Given the description of an element on the screen output the (x, y) to click on. 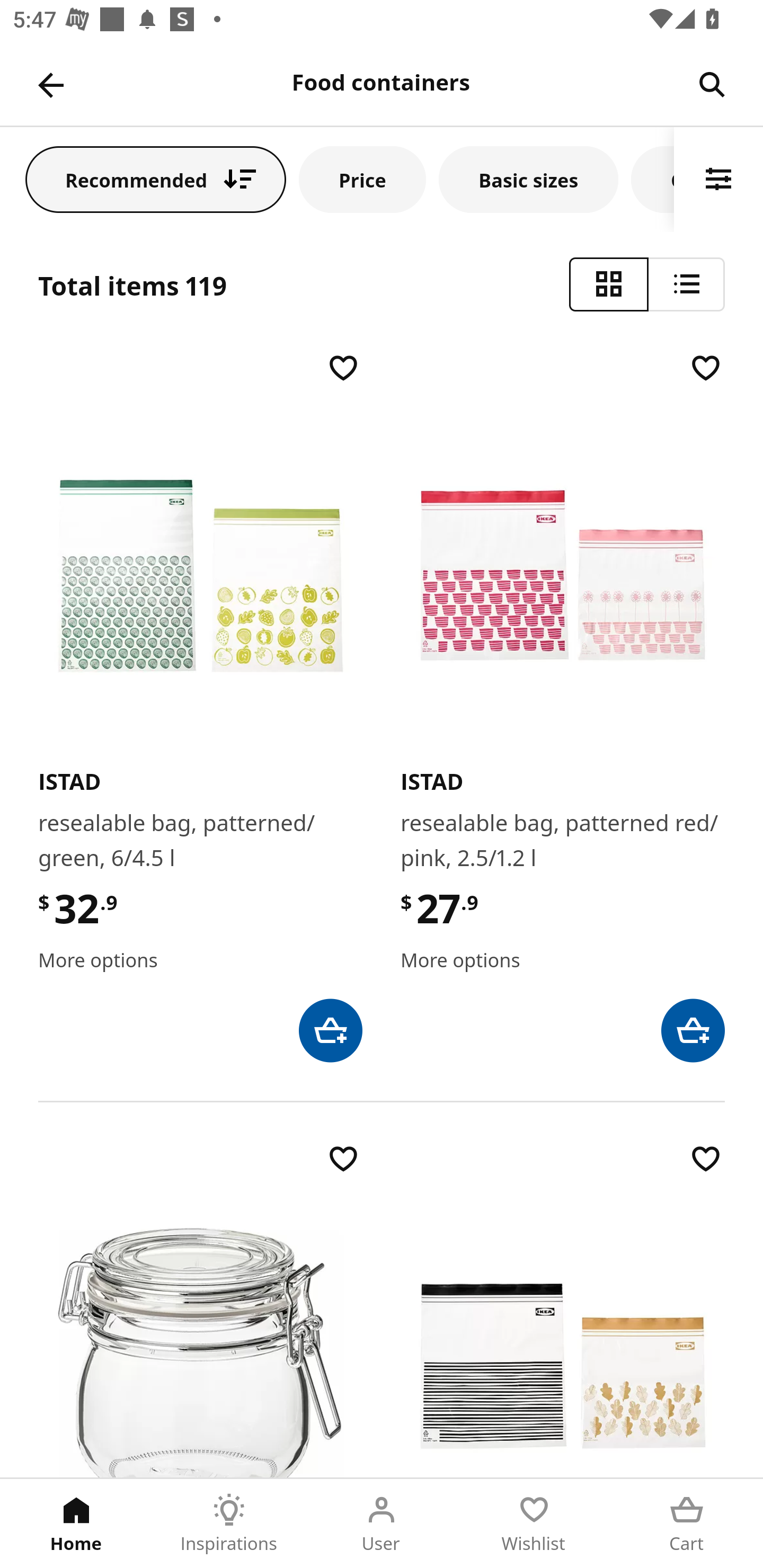
Recommended (155, 179)
Price (362, 179)
Basic sizes (528, 179)
Home
Tab 1 of 5 (76, 1522)
Inspirations
Tab 2 of 5 (228, 1522)
User
Tab 3 of 5 (381, 1522)
Wishlist
Tab 4 of 5 (533, 1522)
Cart
Tab 5 of 5 (686, 1522)
